Given the description of an element on the screen output the (x, y) to click on. 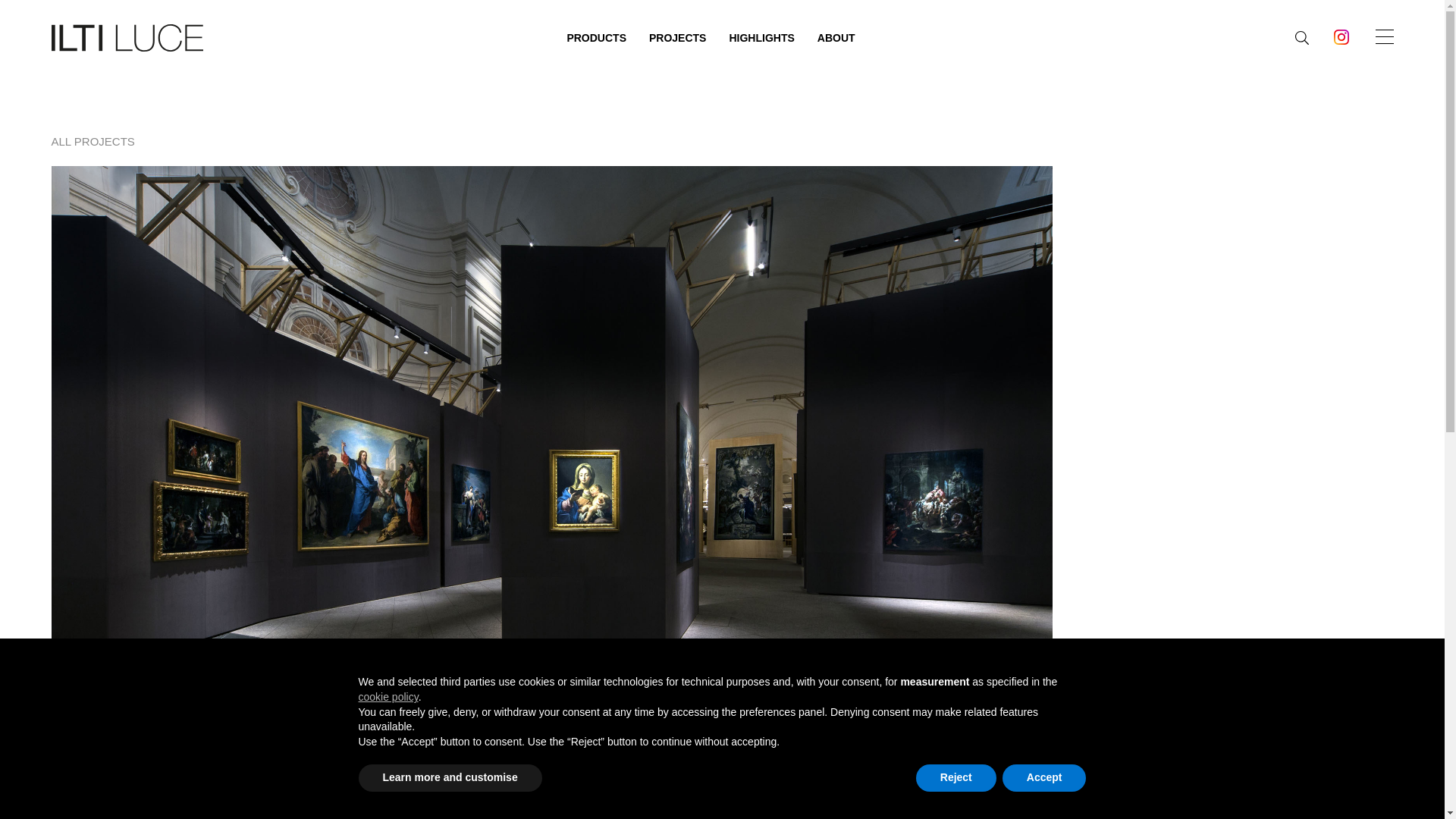
2913A461-0C57-4BC6-93FC-459DE131D9E9 (1341, 36)
2913A461-0C57-4BC6-93FC-459DE131D9E9 (1341, 39)
GALLERY (952, 690)
ABOUT (836, 37)
HIGHLIGHTS (761, 37)
PROJECTS (677, 37)
ALL PROJECTS (92, 141)
PRODUCTS (596, 37)
